Given the description of an element on the screen output the (x, y) to click on. 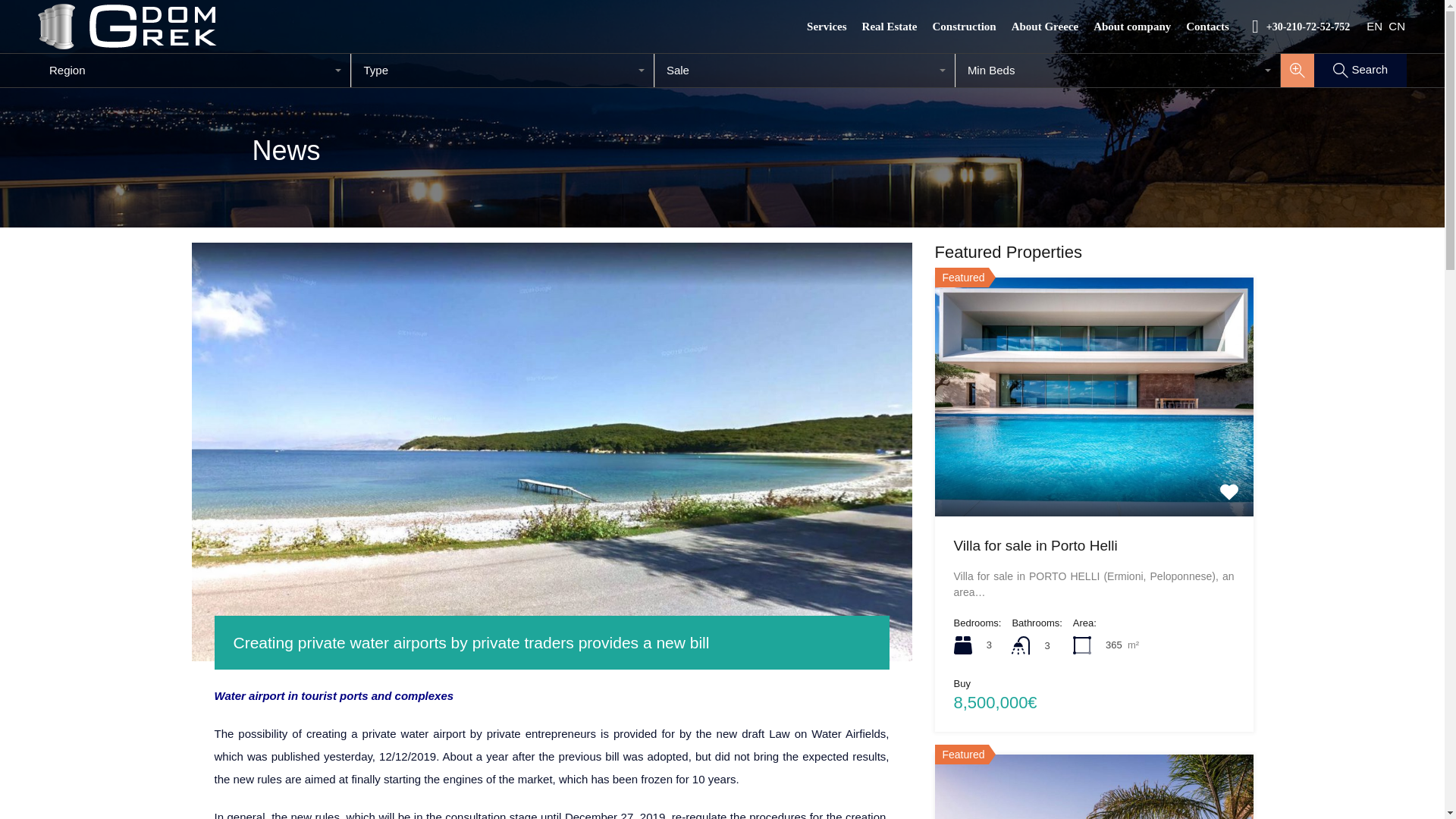
Region (193, 70)
Sale (805, 70)
Min Beds (1117, 70)
Type (502, 70)
Services (826, 26)
